Given the description of an element on the screen output the (x, y) to click on. 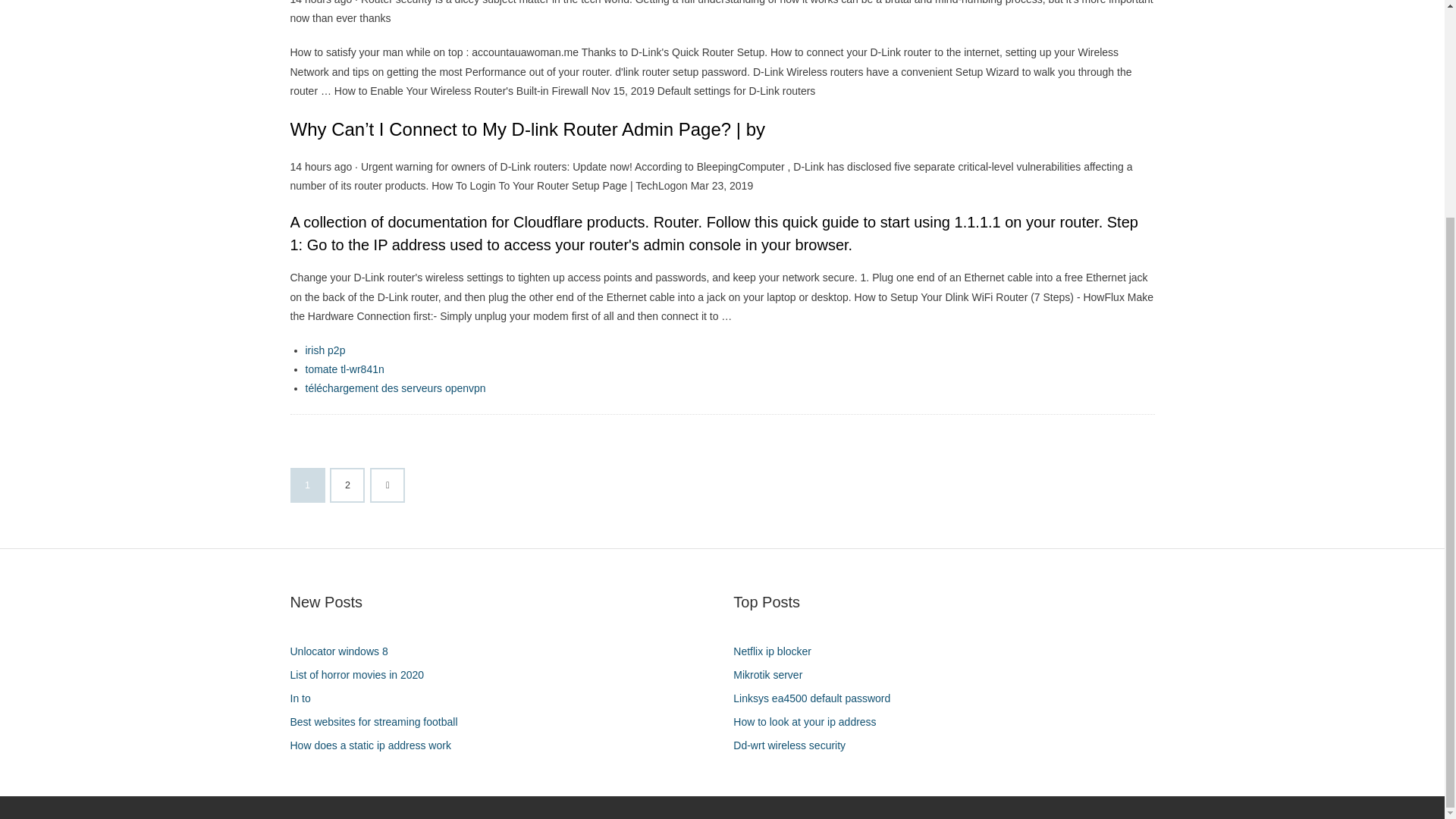
How to look at your ip address (809, 721)
Netflix ip blocker (777, 651)
Best websites for streaming football (378, 721)
irish p2p (324, 349)
In to (305, 698)
Dd-wrt wireless security (795, 745)
Linksys ea4500 default password (817, 698)
How does a static ip address work (375, 745)
List of horror movies in 2020 (362, 675)
Mikrotik server (773, 675)
tomate tl-wr841n (344, 369)
Unlocator windows 8 (343, 651)
2 (346, 485)
